Given the description of an element on the screen output the (x, y) to click on. 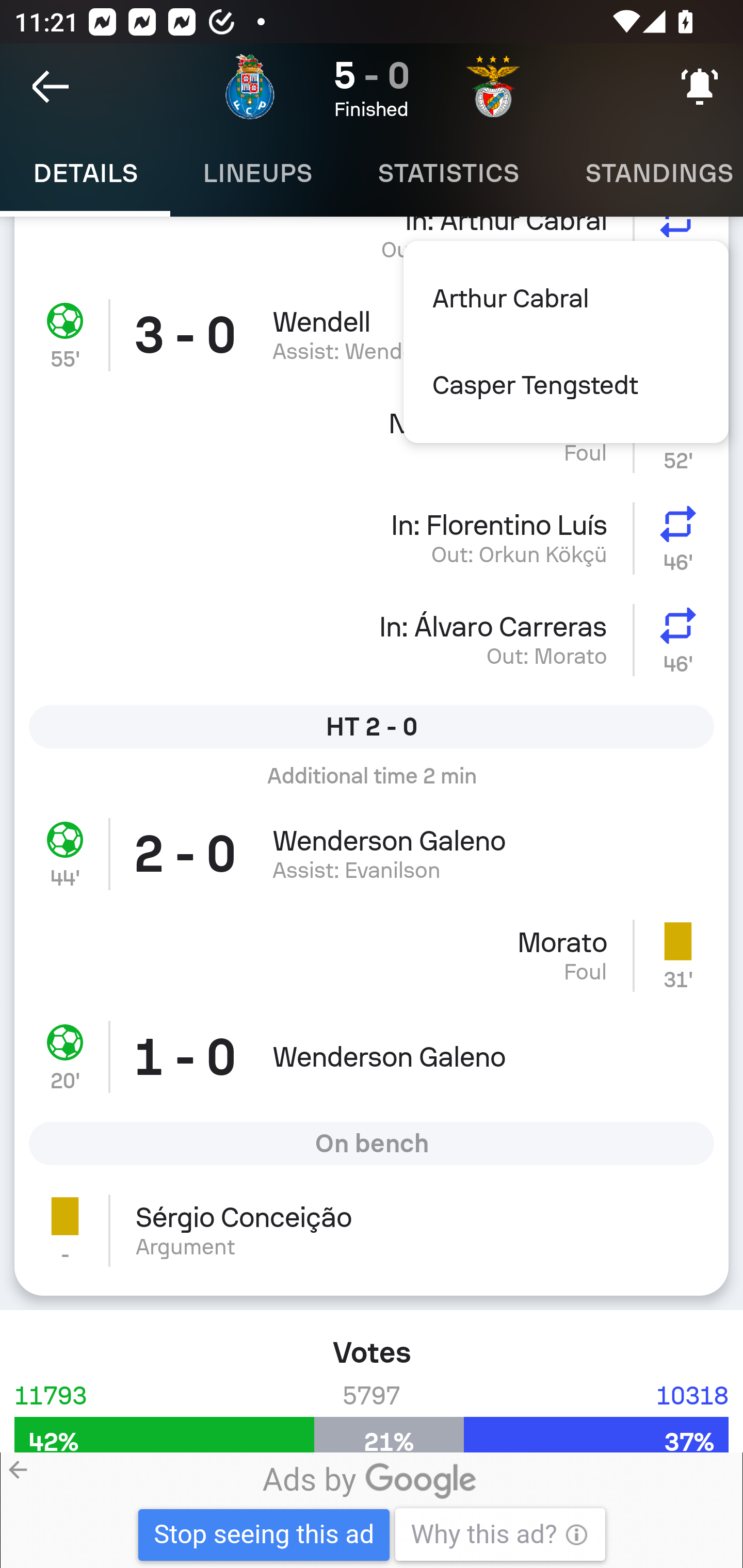
Arthur Cabral (565, 298)
Casper Tengstedt (565, 384)
